Given the description of an element on the screen output the (x, y) to click on. 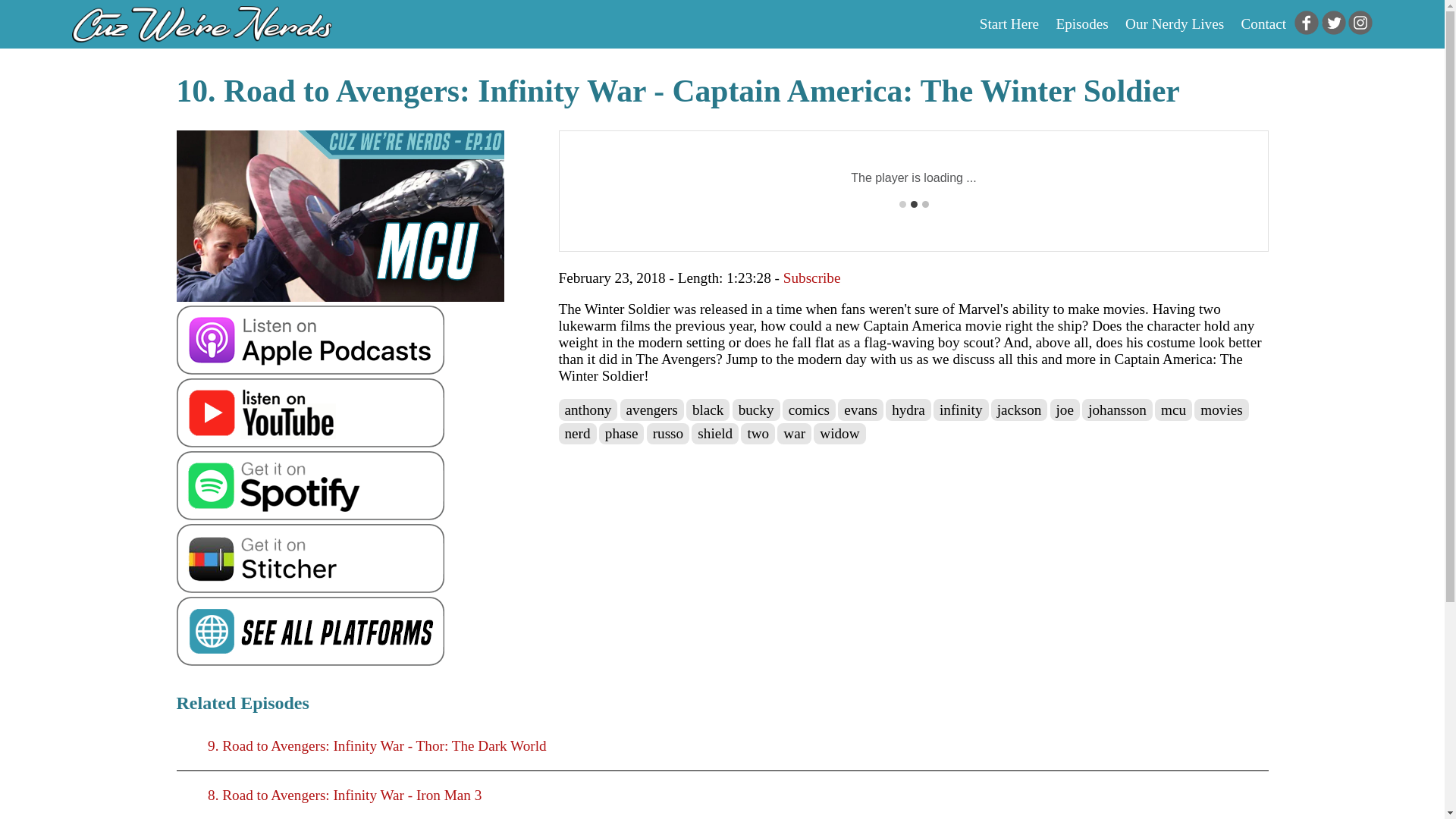
Subscribe (812, 277)
Contact (1263, 23)
8. Road to Avengers: Infinity War - Iron Man 3 (722, 795)
Start Here (1009, 23)
9. Road to Avengers: Infinity War - Thor: The Dark World (722, 745)
Episodes (1081, 23)
Our Nerdy Lives (1174, 23)
